Given the description of an element on the screen output the (x, y) to click on. 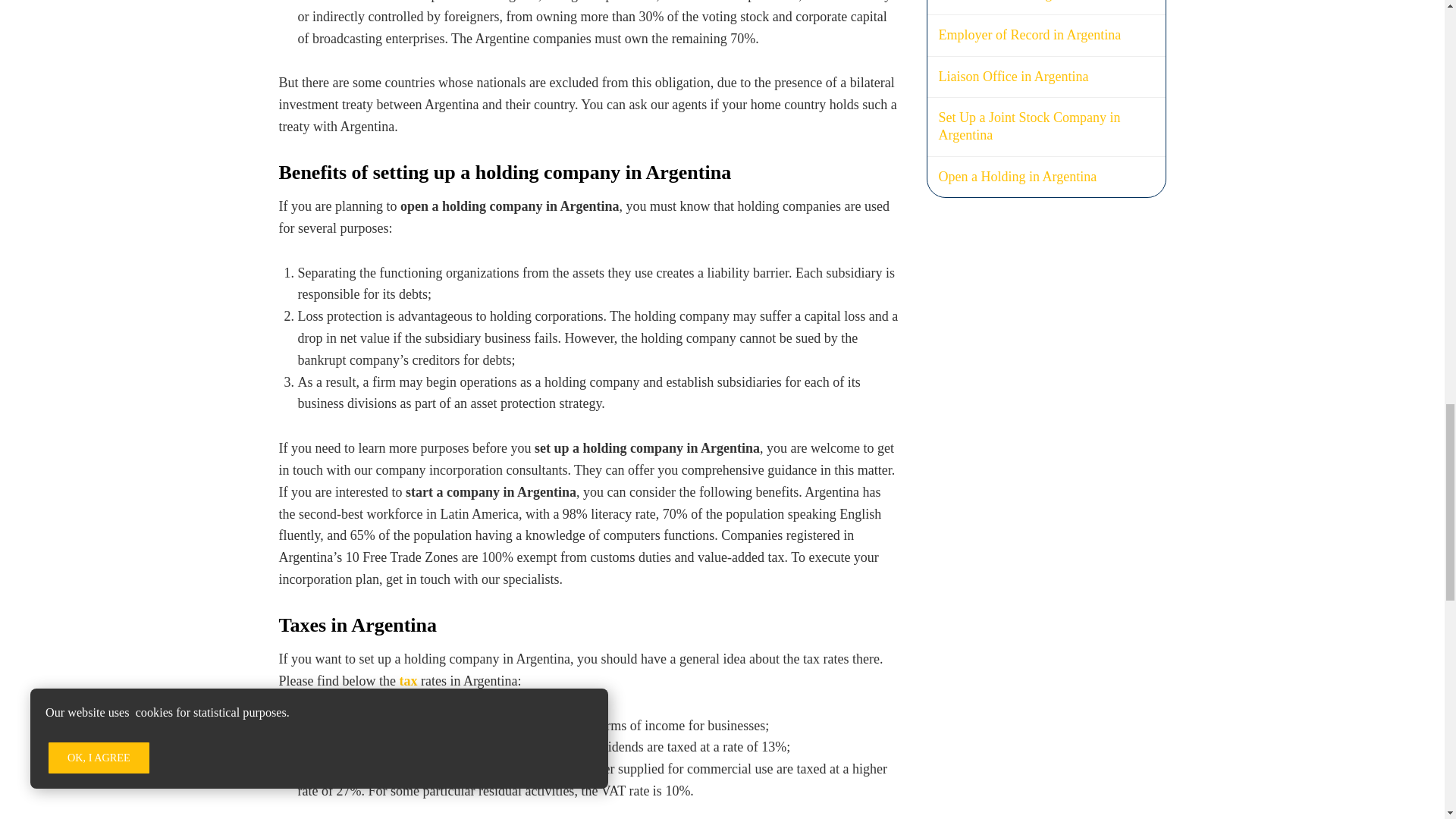
tax (407, 680)
